Given the description of an element on the screen output the (x, y) to click on. 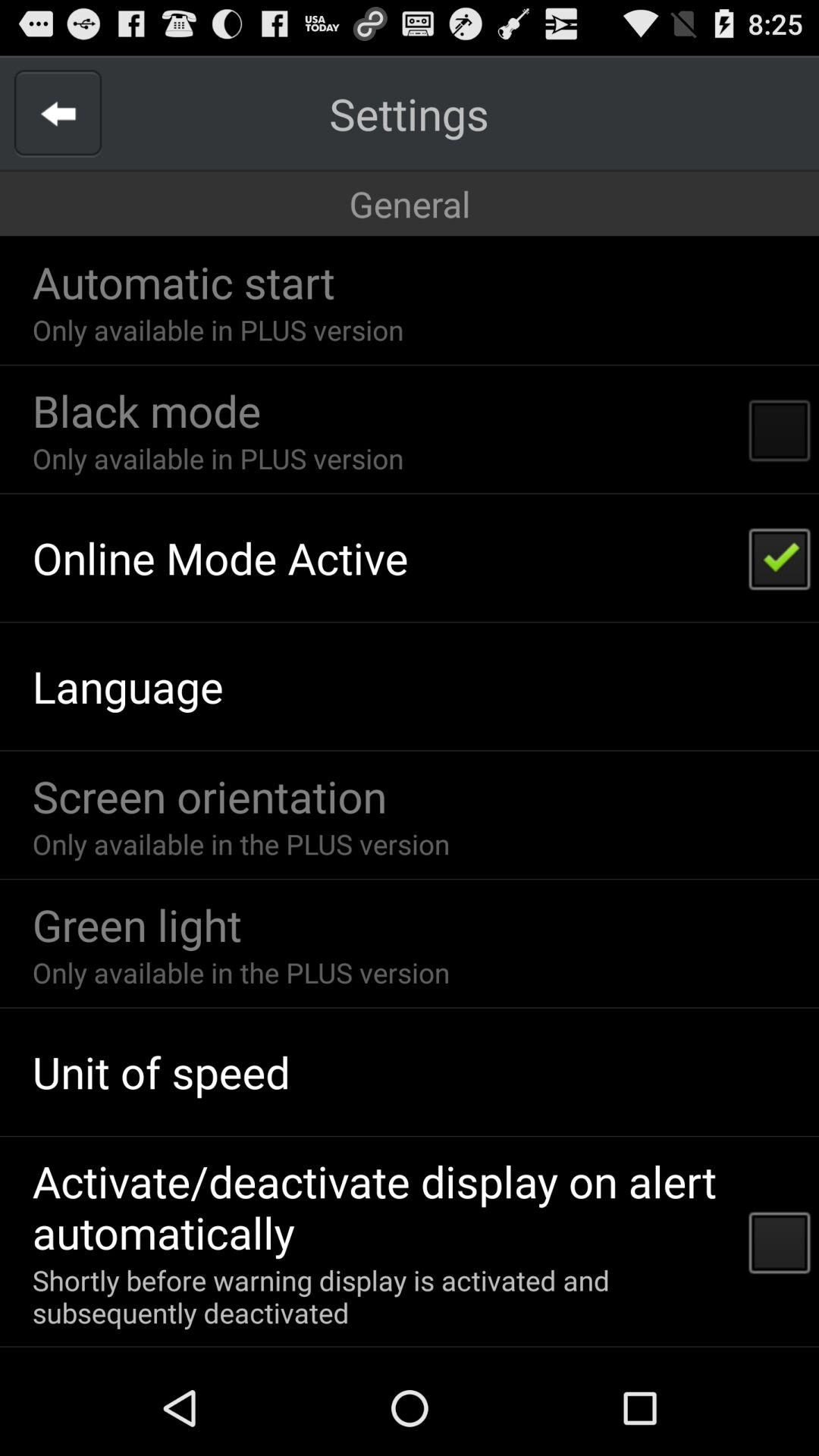
flip to shortly before warning item (380, 1296)
